Given the description of an element on the screen output the (x, y) to click on. 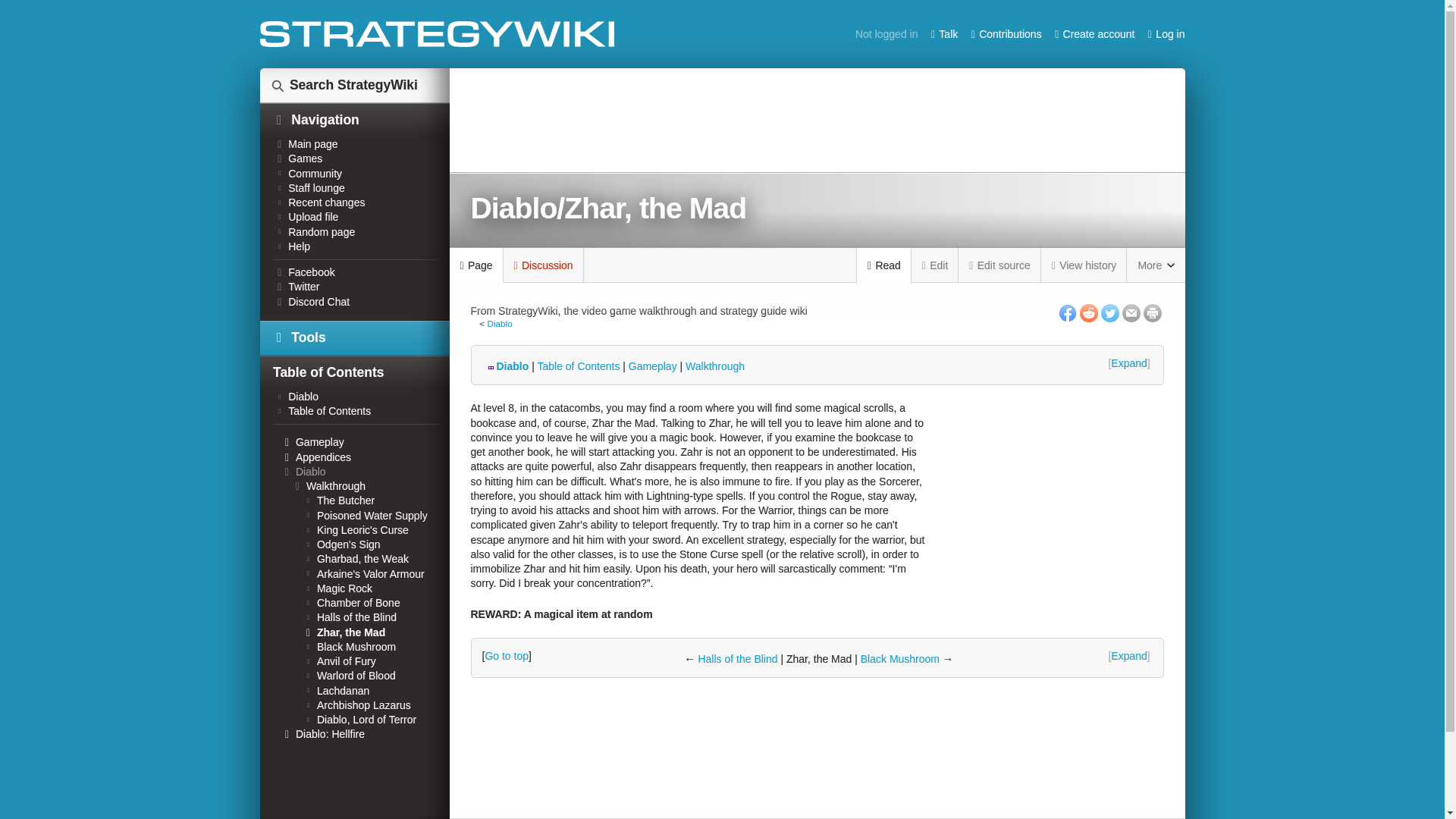
Page (475, 265)
Share on reddit.com (1088, 312)
Edit (935, 264)
Share on twitter.com (1109, 312)
Expand (1129, 363)
E-mail this page (1131, 312)
Read (884, 265)
Diablo (507, 366)
Diablo (499, 323)
Gameplay (652, 366)
More options (1155, 265)
Print this page (1151, 312)
Edit source (999, 264)
Discussion (543, 264)
Walkthrough (714, 366)
